Given the description of an element on the screen output the (x, y) to click on. 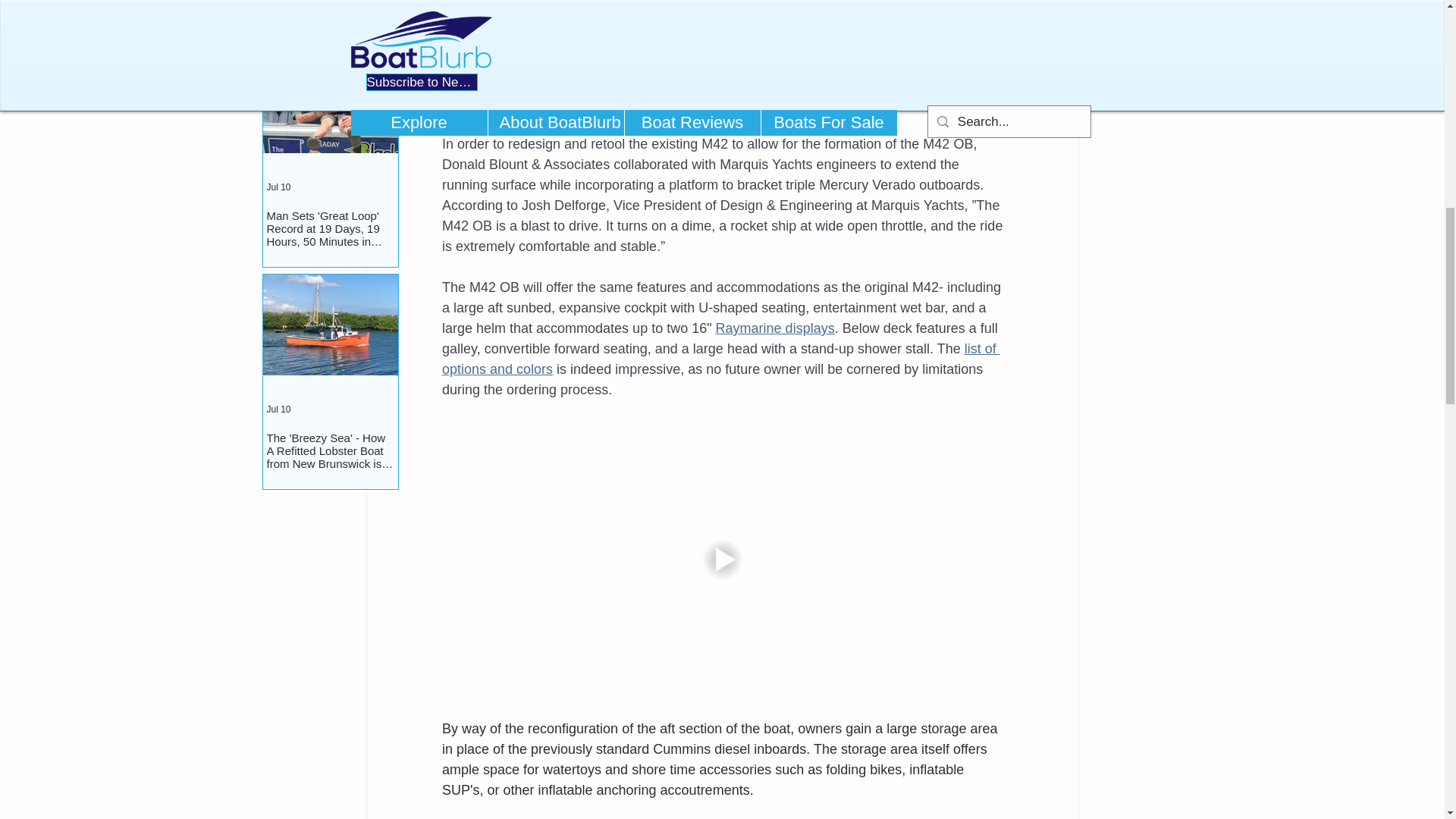
6.7 L Cummins 480 HP diesel (714, 92)
list of options and colors (719, 358)
Raymarine displays (774, 328)
Jul 10 (278, 186)
Jul 10 (278, 409)
Mercury Verado 400 HP (707, 61)
